Given the description of an element on the screen output the (x, y) to click on. 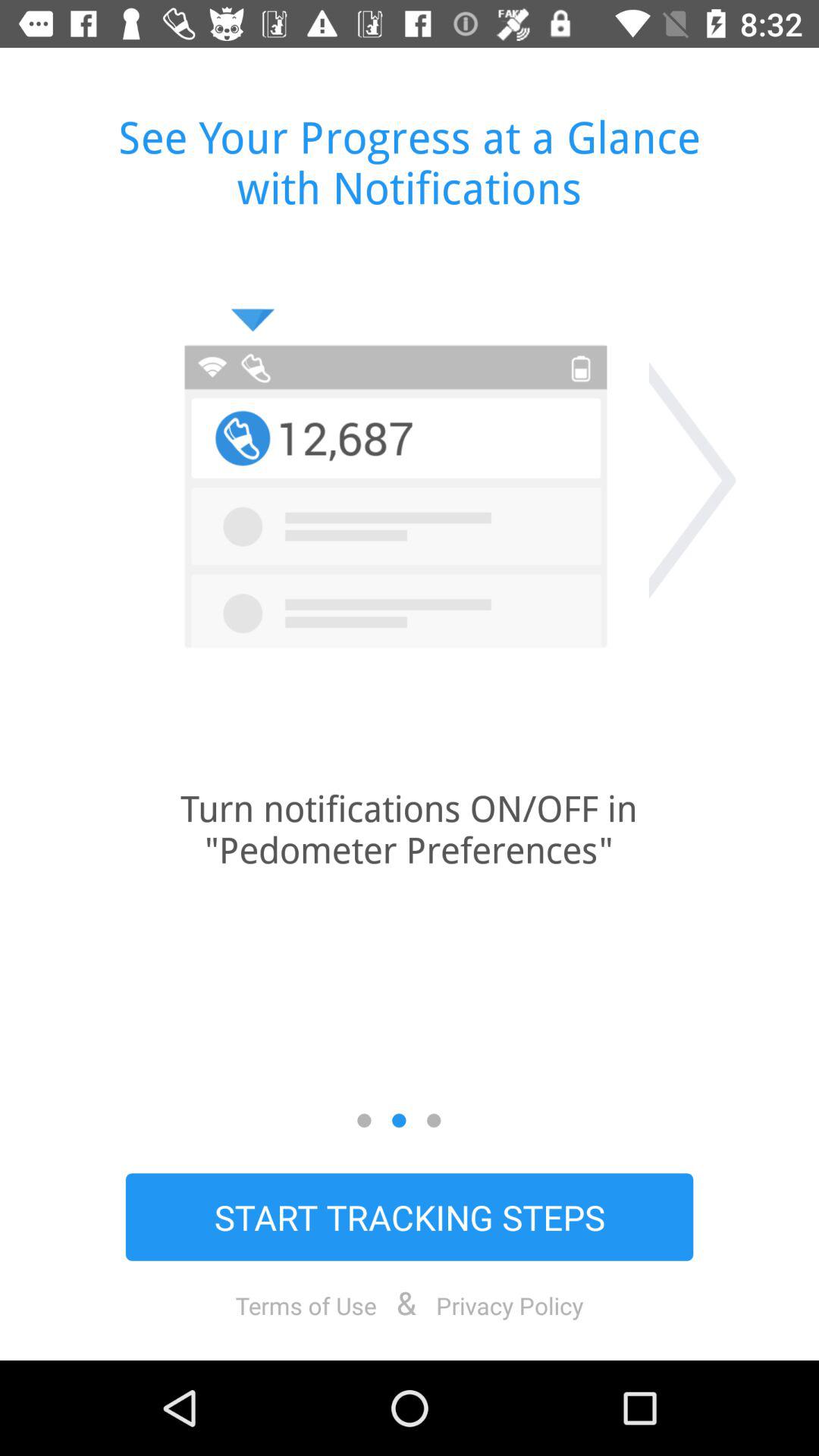
click the icon to the right of & item (509, 1305)
